Given the description of an element on the screen output the (x, y) to click on. 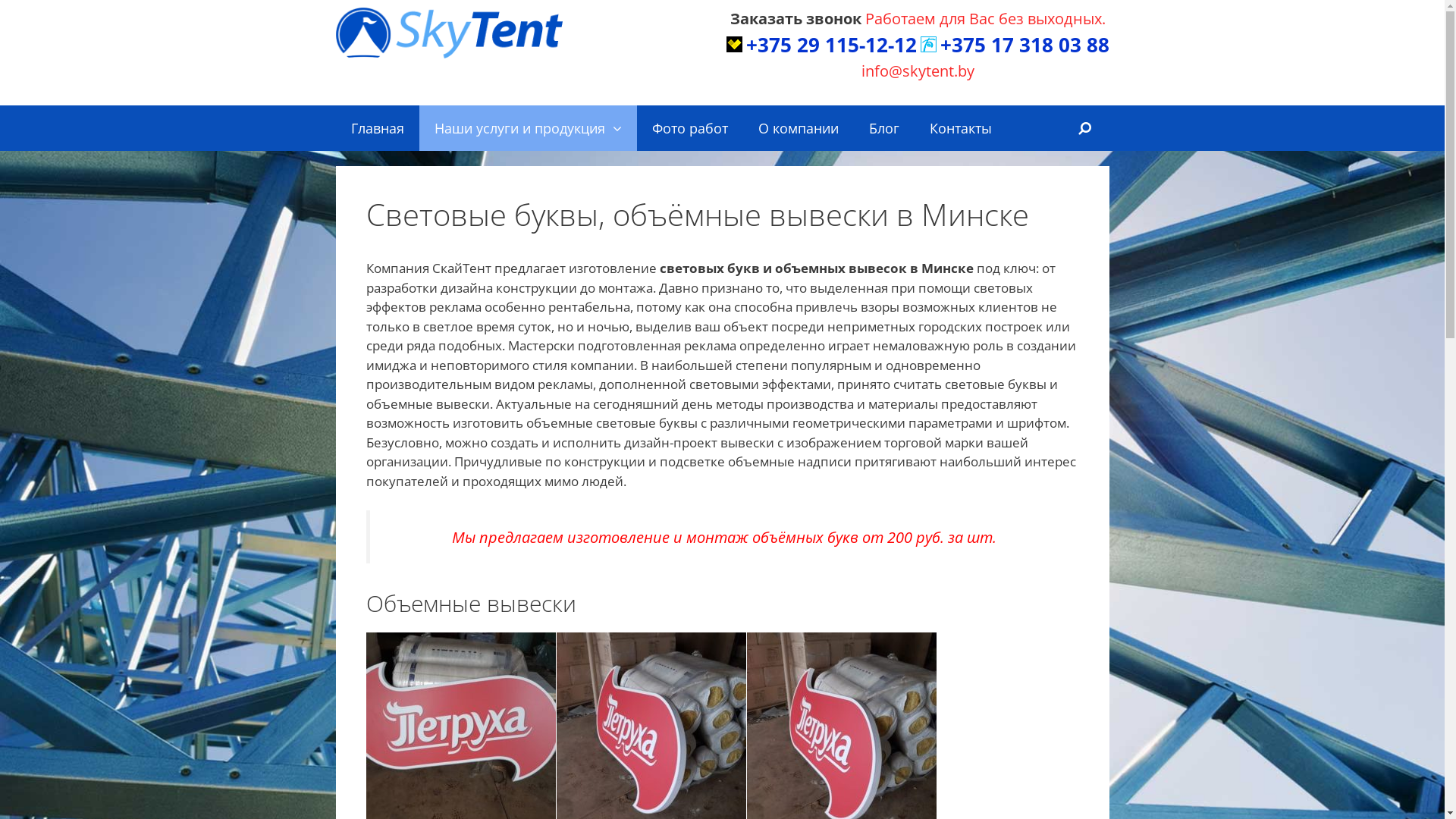
SkyTent Element type: hover (448, 31)
+375 17 318 03 88 Element type: text (1024, 44)
SkyTent Element type: hover (448, 33)
+375 29 115-12-12 Element type: text (831, 44)
